Given the description of an element on the screen output the (x, y) to click on. 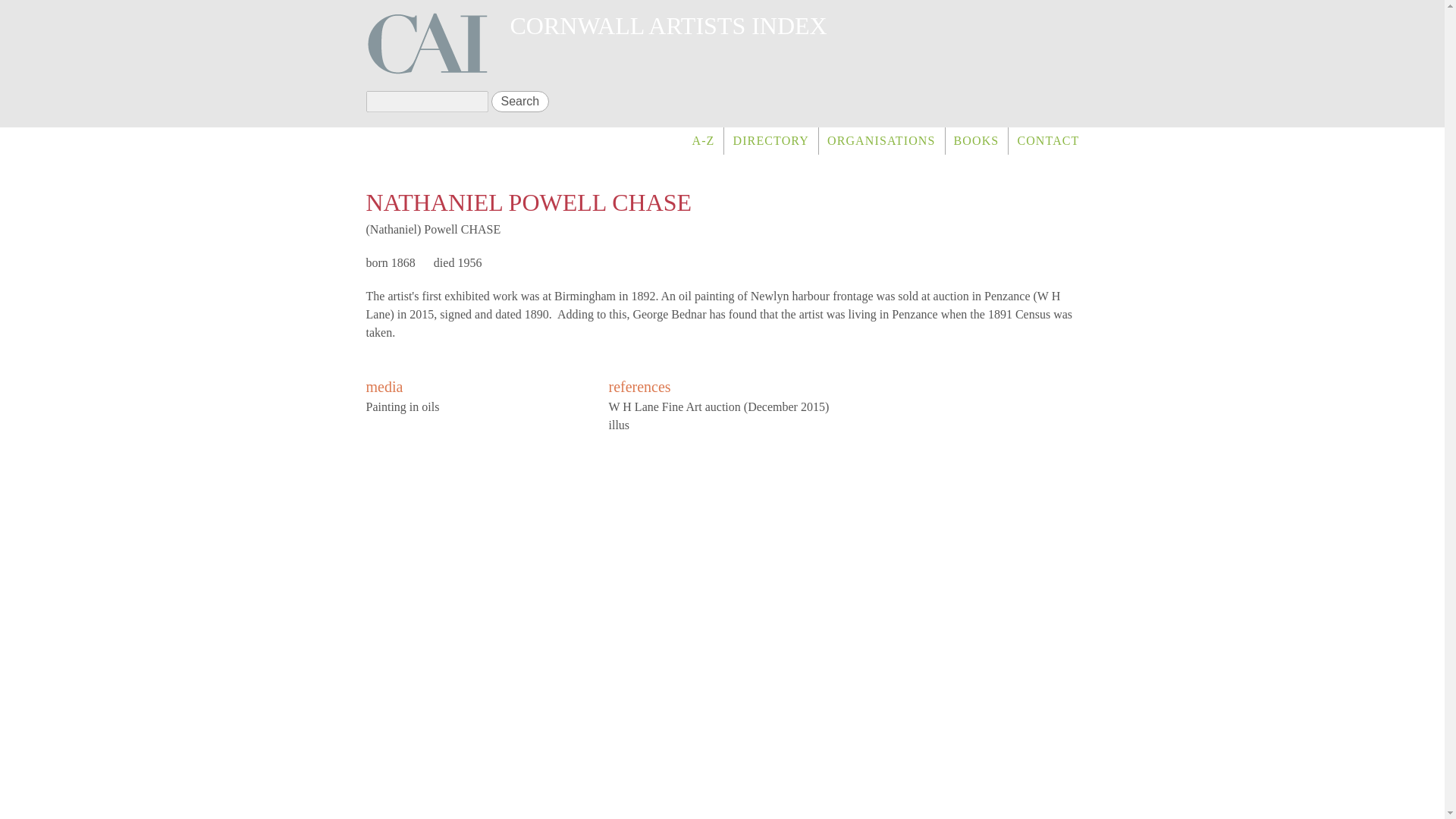
BOOKS (976, 140)
Search (521, 101)
Home page (668, 25)
CONTACT (1042, 140)
A-Z (702, 140)
DIRECTORY (770, 140)
A listing with biographical information of Cornwall Artists (770, 140)
CORNWALL ARTISTS INDEX (668, 25)
ORGANISATIONS (881, 140)
